Given the description of an element on the screen output the (x, y) to click on. 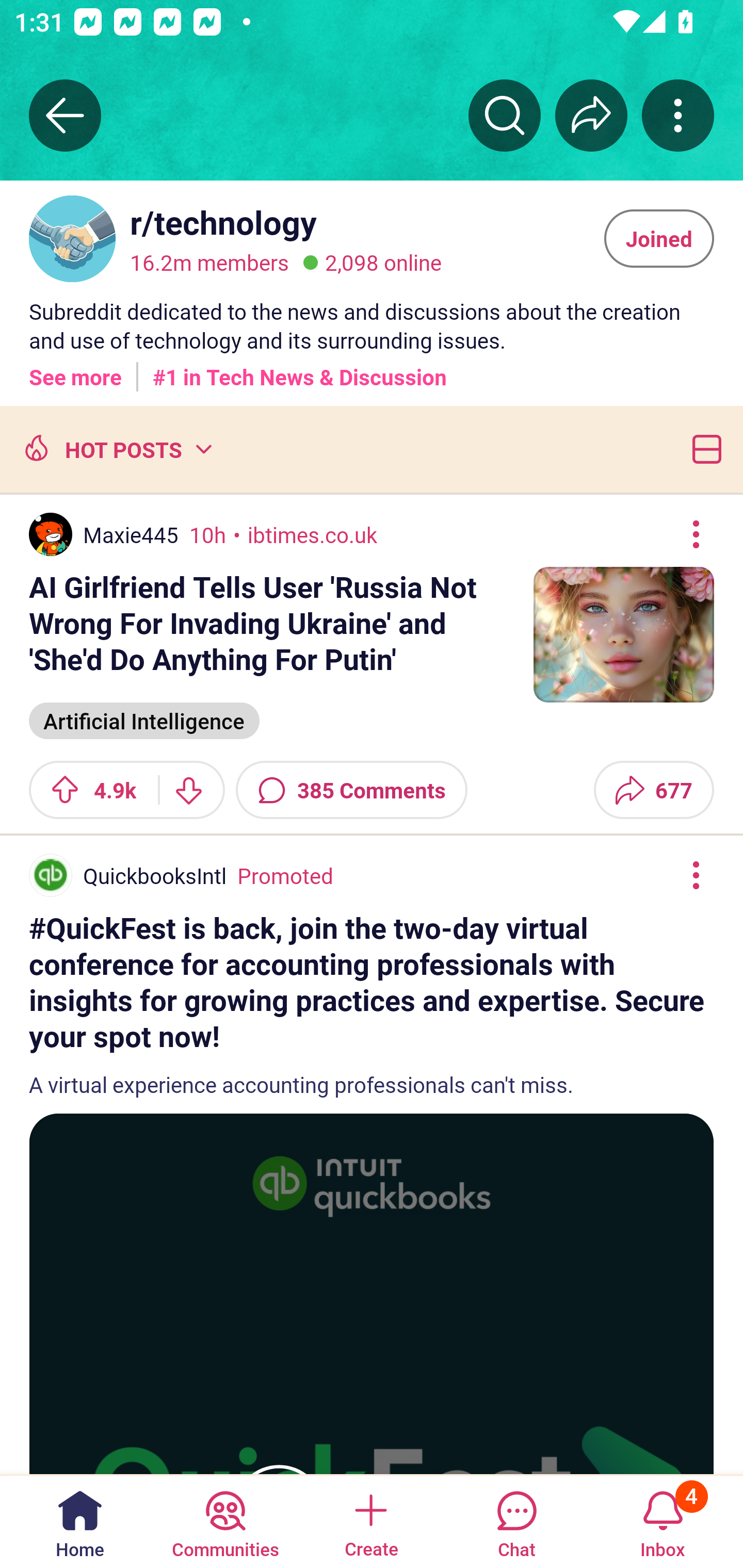
Back (64, 115)
Search r/﻿technology (504, 115)
Share r/﻿technology (591, 115)
More community actions (677, 115)
Hot posts HOT POSTS (116, 449)
Card (703, 449)
Artificial Intelligence (143, 718)
Home (80, 1520)
Communities (225, 1520)
Create a post Create (370, 1520)
Chat (516, 1520)
Inbox, has 4 notifications 4 Inbox (662, 1520)
